Given the description of an element on the screen output the (x, y) to click on. 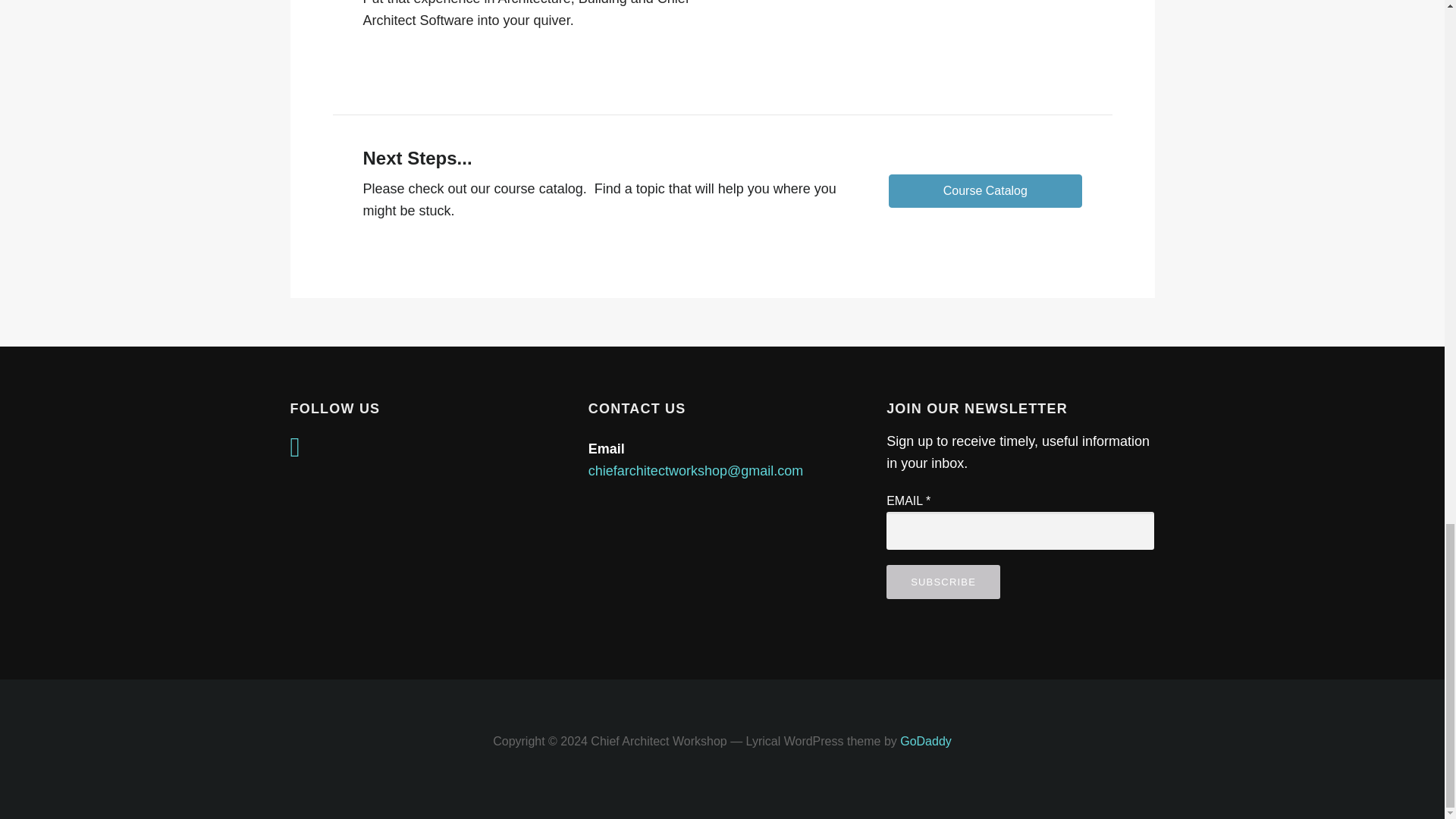
Subscribe (943, 581)
Subscribe (943, 581)
GoDaddy (925, 740)
Course Catalog (984, 191)
